Given the description of an element on the screen output the (x, y) to click on. 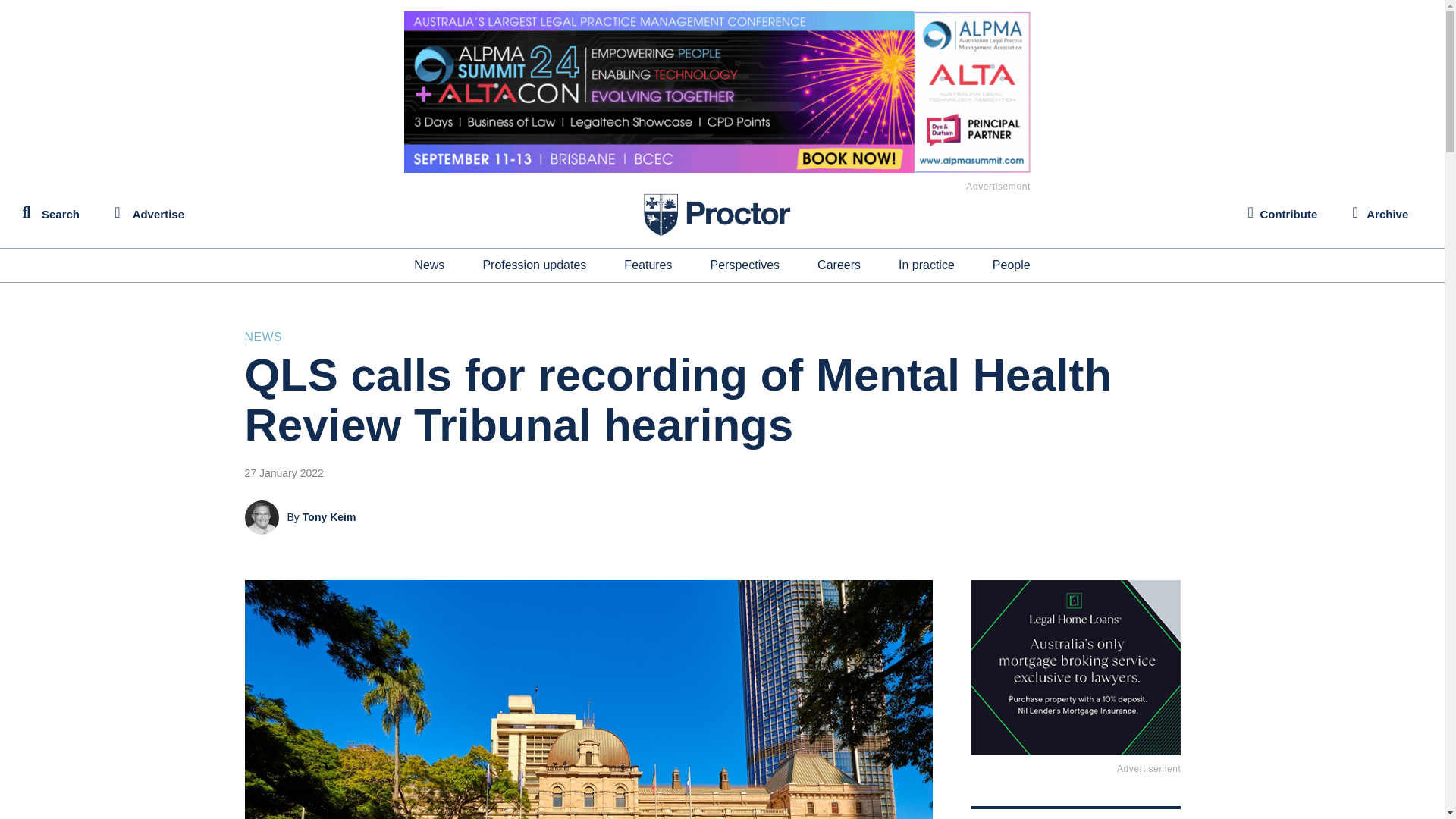
Careers (838, 264)
Features (647, 264)
News (428, 264)
People (1011, 264)
In practice (926, 264)
Profession updates (534, 264)
Perspectives (745, 264)
